Given the description of an element on the screen output the (x, y) to click on. 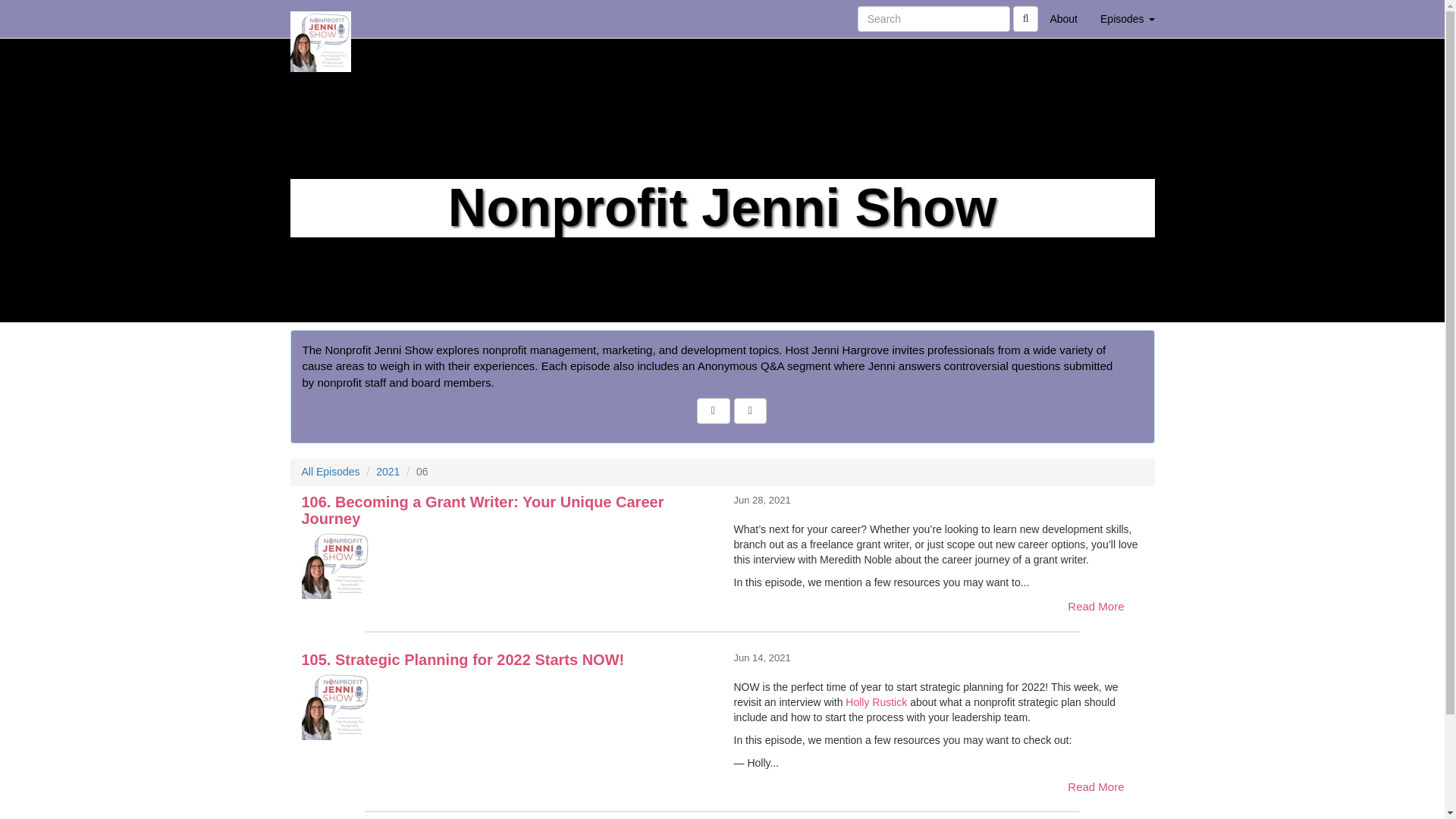
Episodes (1127, 18)
Home Page (320, 18)
105. Strategic Planning for 2022 Starts NOW! (506, 705)
About (1063, 18)
106. Becoming a Grant Writer: Your Unique Career Journey (506, 564)
